Given the description of an element on the screen output the (x, y) to click on. 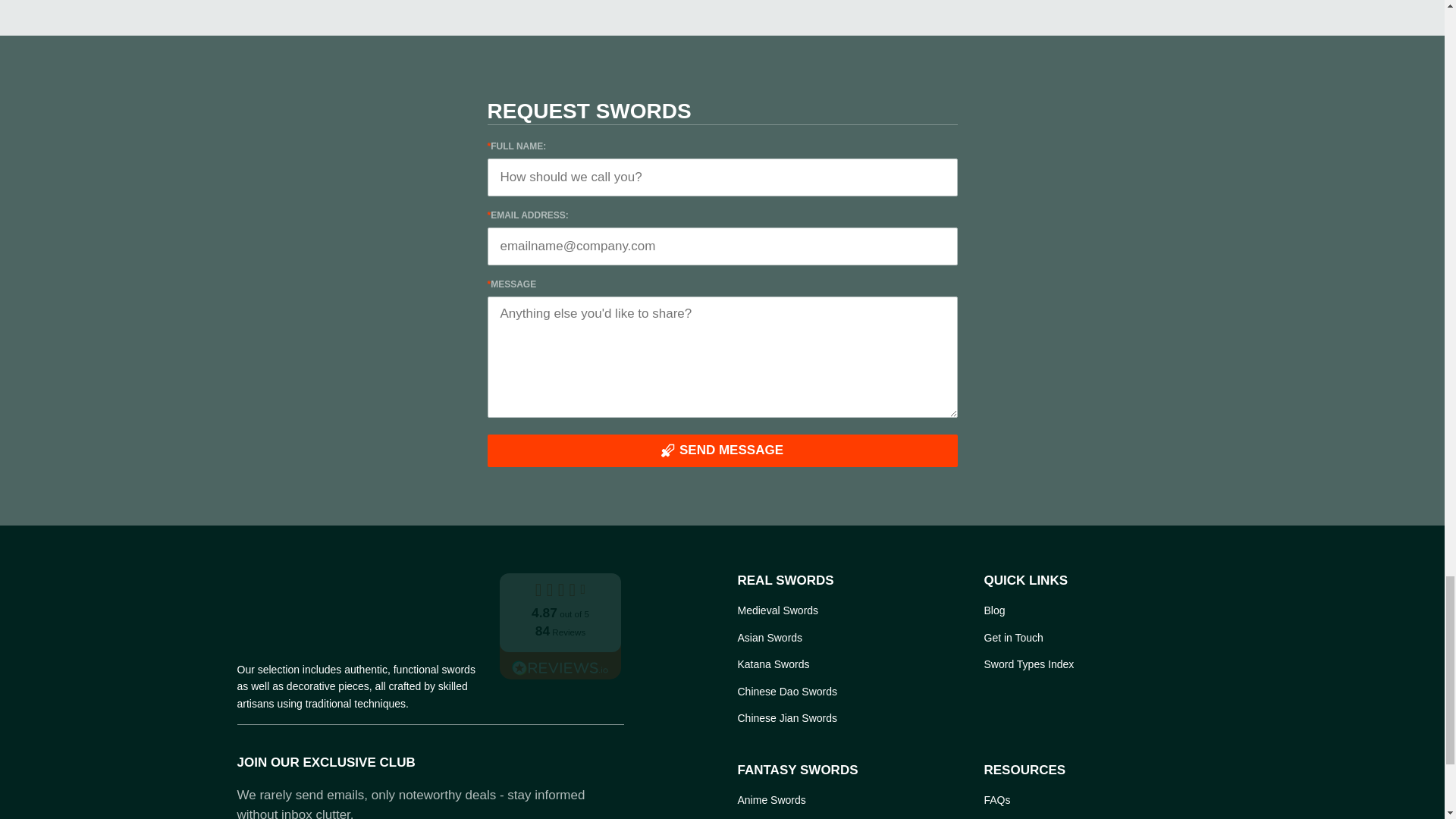
Reviews Badge Modern Widget (560, 625)
